Given the description of an element on the screen output the (x, y) to click on. 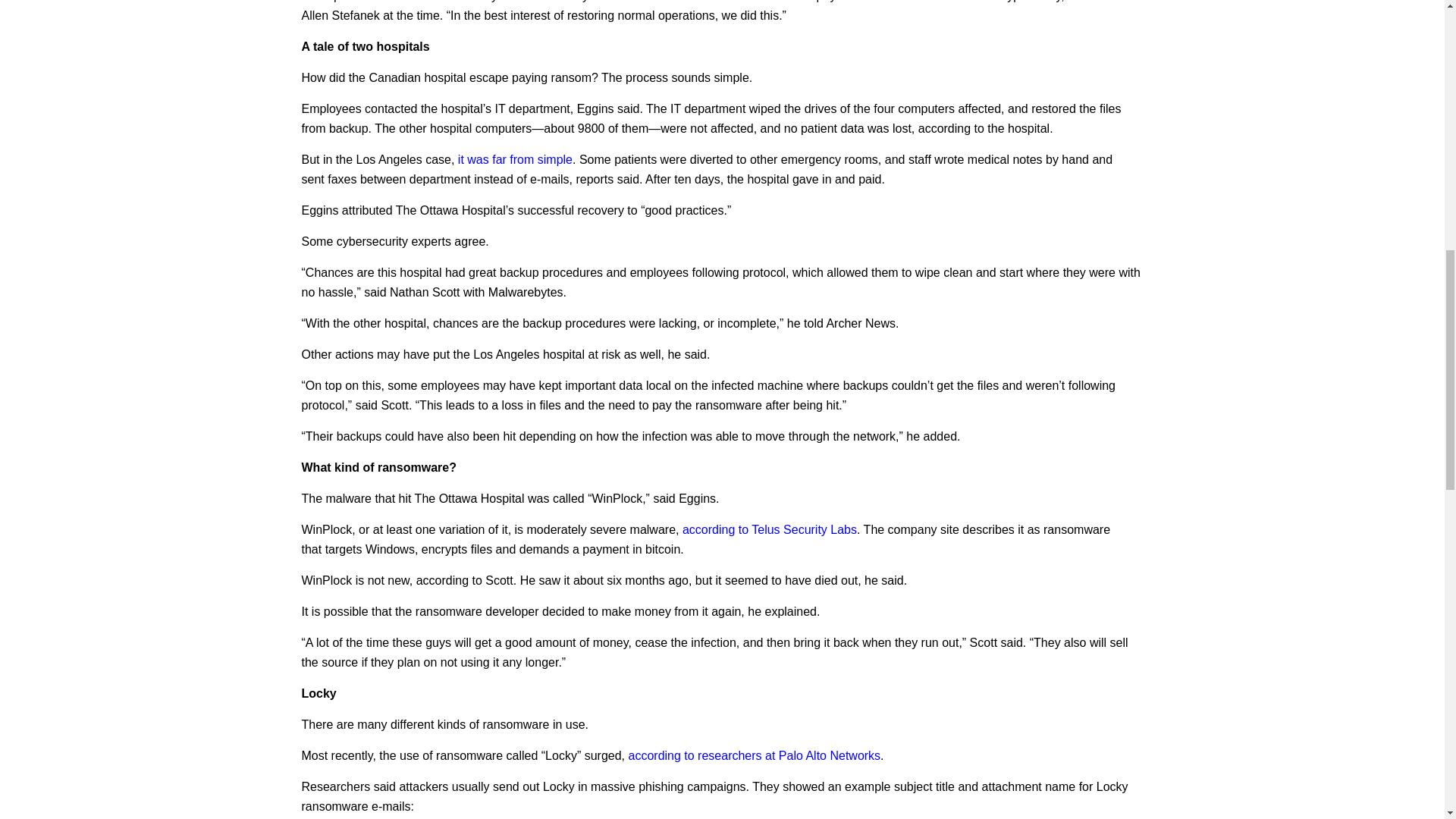
according to researchers at Palo Alto Networks (753, 755)
according to Telus Security Labs (769, 529)
it was far from simple (515, 159)
